Given the description of an element on the screen output the (x, y) to click on. 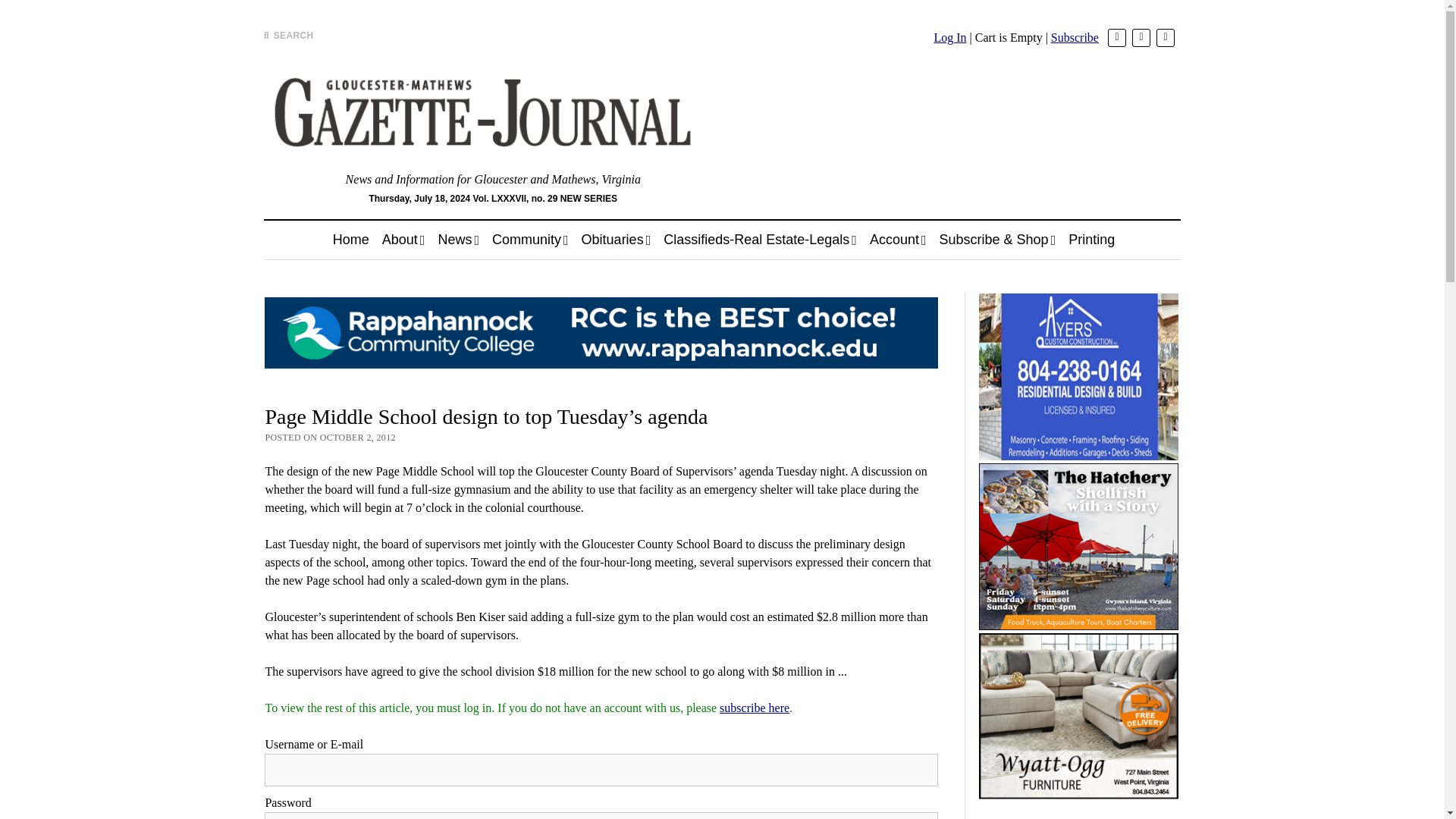
About (402, 239)
Search (945, 129)
Community (530, 239)
News (457, 239)
SEARCH (288, 35)
instagram (1165, 37)
Log In (949, 37)
twitter (1116, 37)
Obituaries (616, 239)
facebook (1140, 36)
Subscribe (1075, 37)
instagram (1165, 36)
Home (350, 239)
facebook (1141, 37)
